Given the description of an element on the screen output the (x, y) to click on. 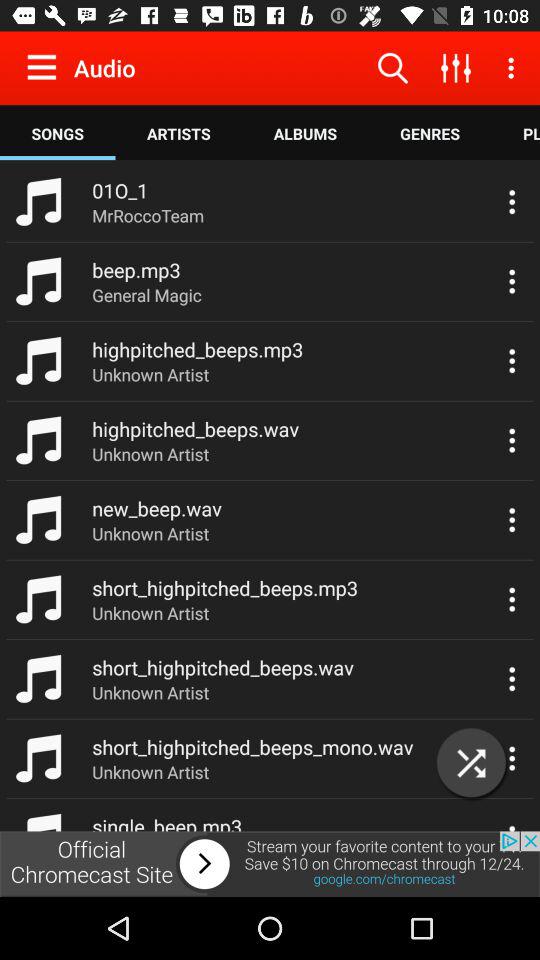
add a song (471, 762)
